Given the description of an element on the screen output the (x, y) to click on. 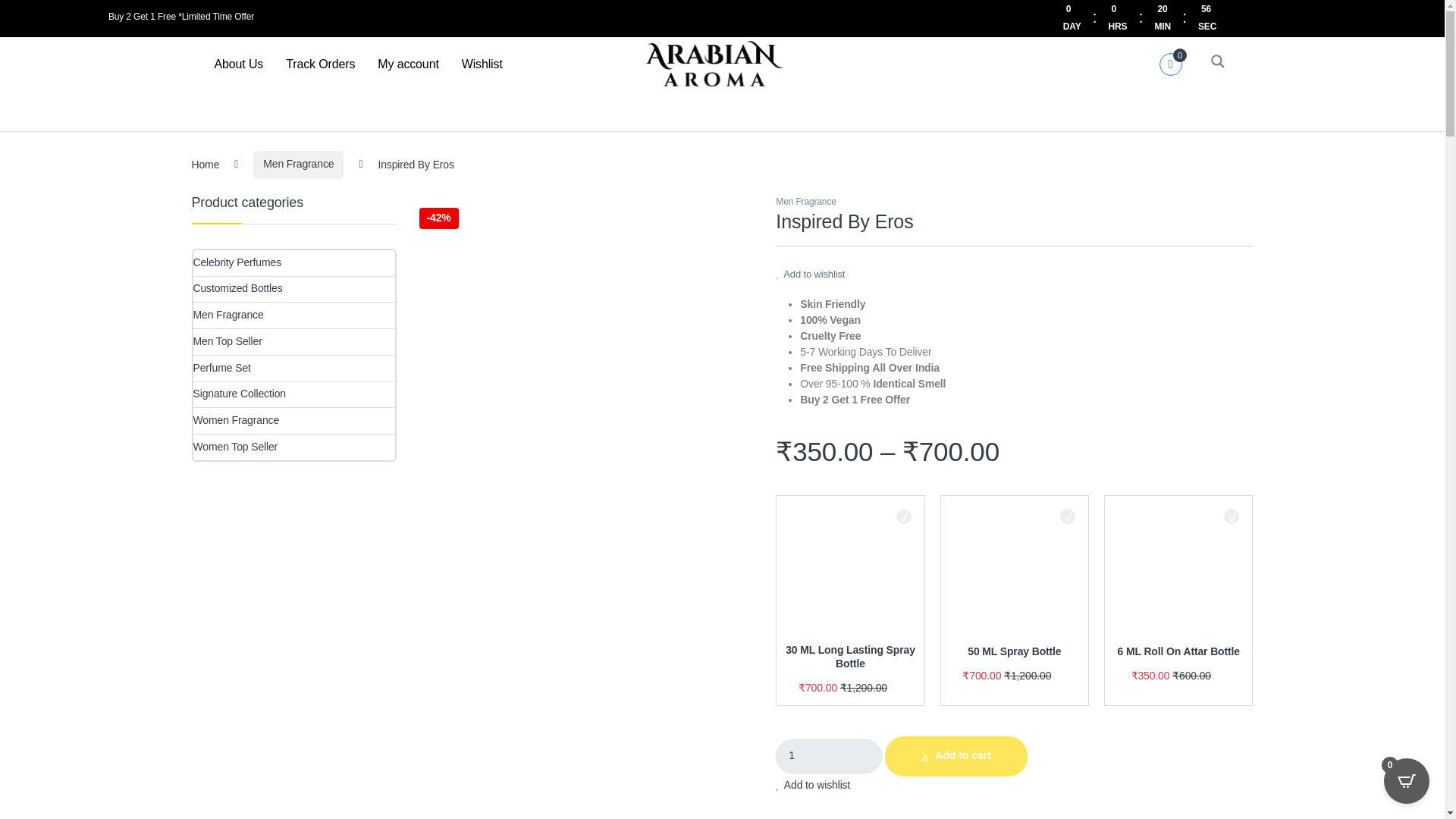
My account (407, 64)
Add to wishlist (813, 784)
1 (829, 756)
Add to wishlist (810, 274)
Men Fragrance (805, 201)
Qty (829, 756)
Men Fragrance (298, 164)
About Us (239, 64)
Wishlist (481, 64)
Add to cart (956, 756)
